Given the description of an element on the screen output the (x, y) to click on. 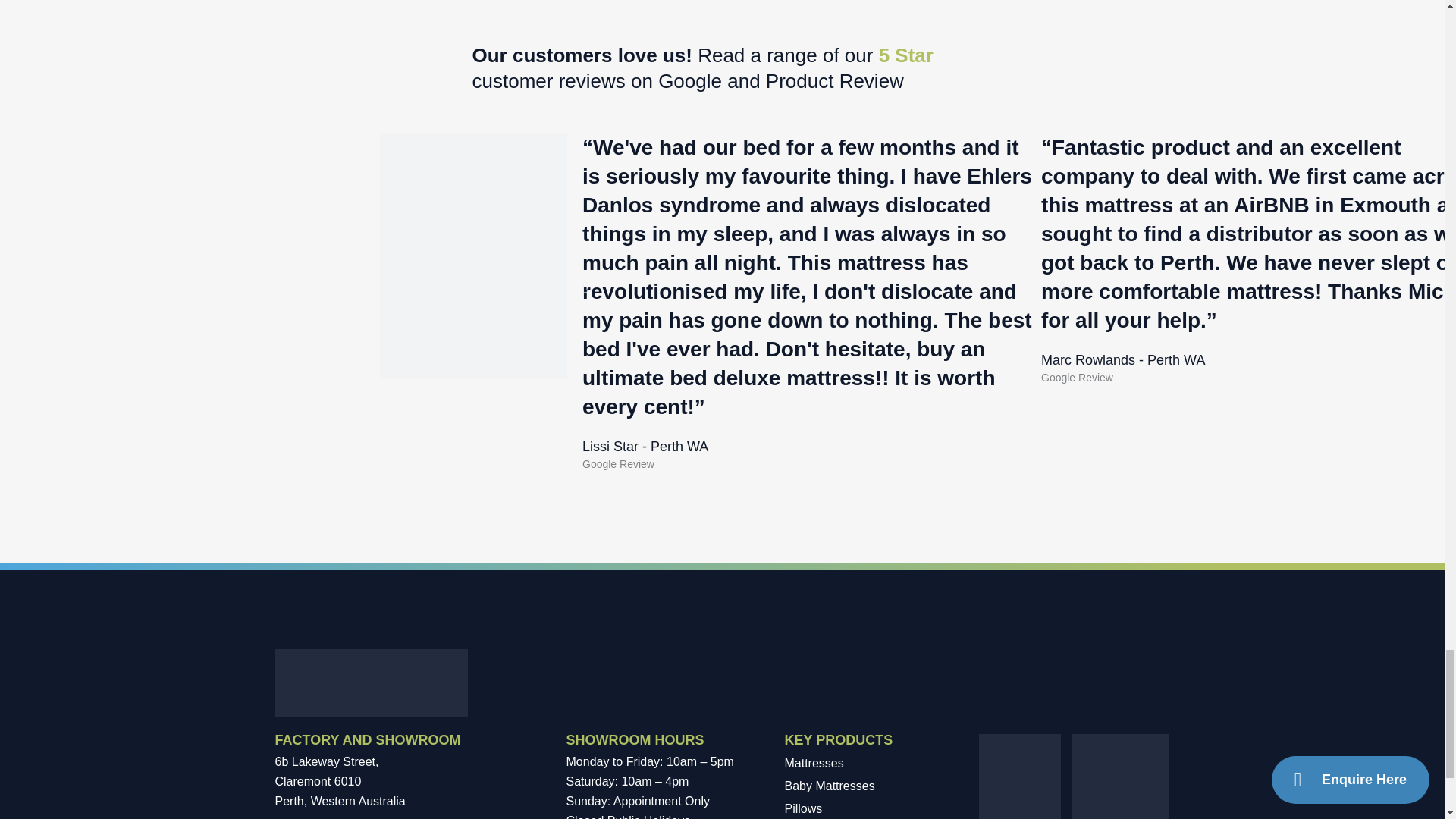
Baby Mattresses (863, 785)
Mattresses (863, 763)
Pillows (863, 808)
